Given the description of an element on the screen output the (x, y) to click on. 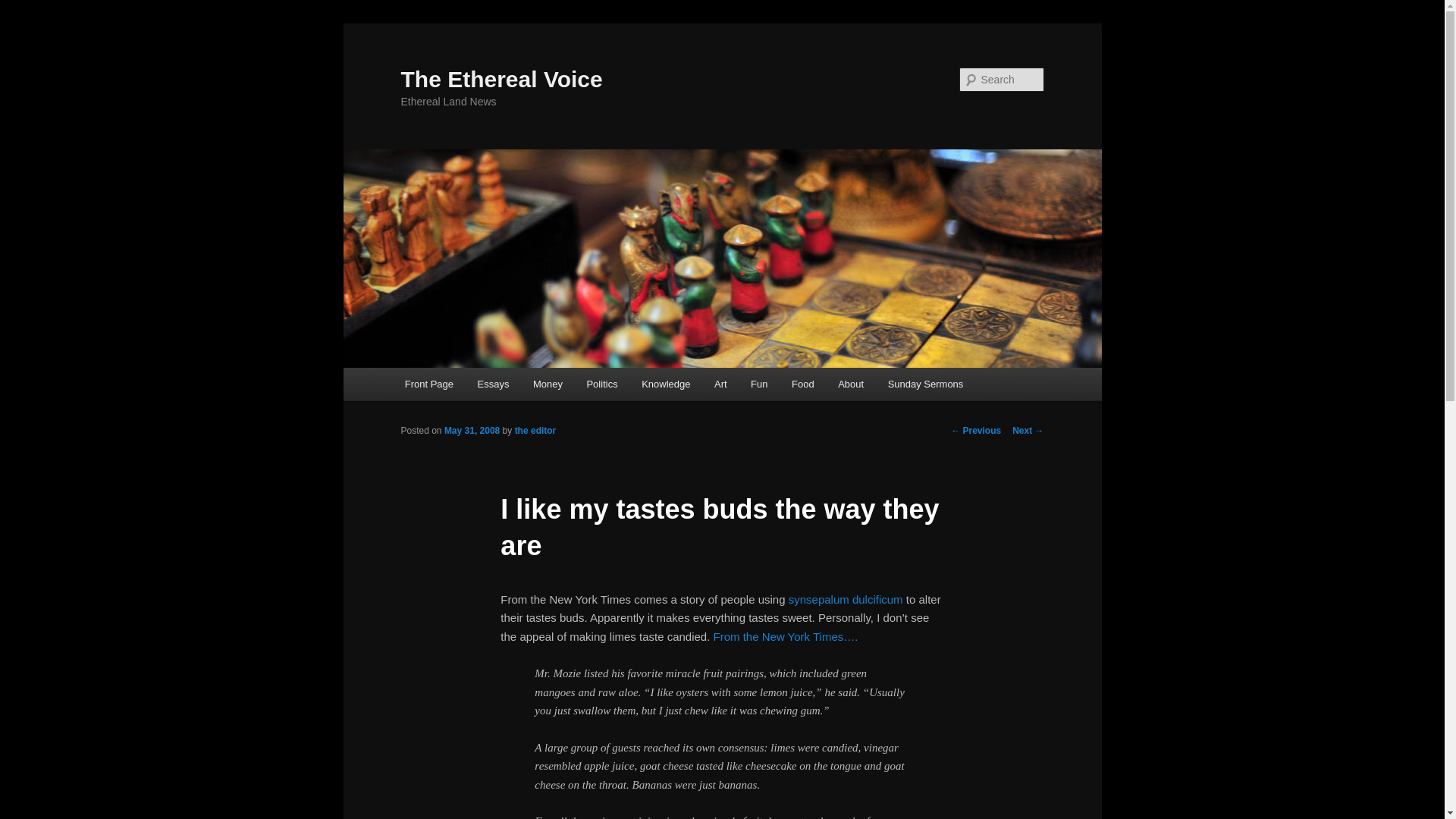
Search (24, 8)
synsepalum dulcificum (845, 599)
Politics (602, 383)
Art (719, 383)
Food (801, 383)
Money (548, 383)
the editor (535, 430)
View all posts by the editor (535, 430)
The Ethereal Voice (501, 78)
May 31, 2008 (471, 430)
Knowledge (664, 383)
Front Page (429, 383)
About (850, 383)
12:56 pm (471, 430)
